Given the description of an element on the screen output the (x, y) to click on. 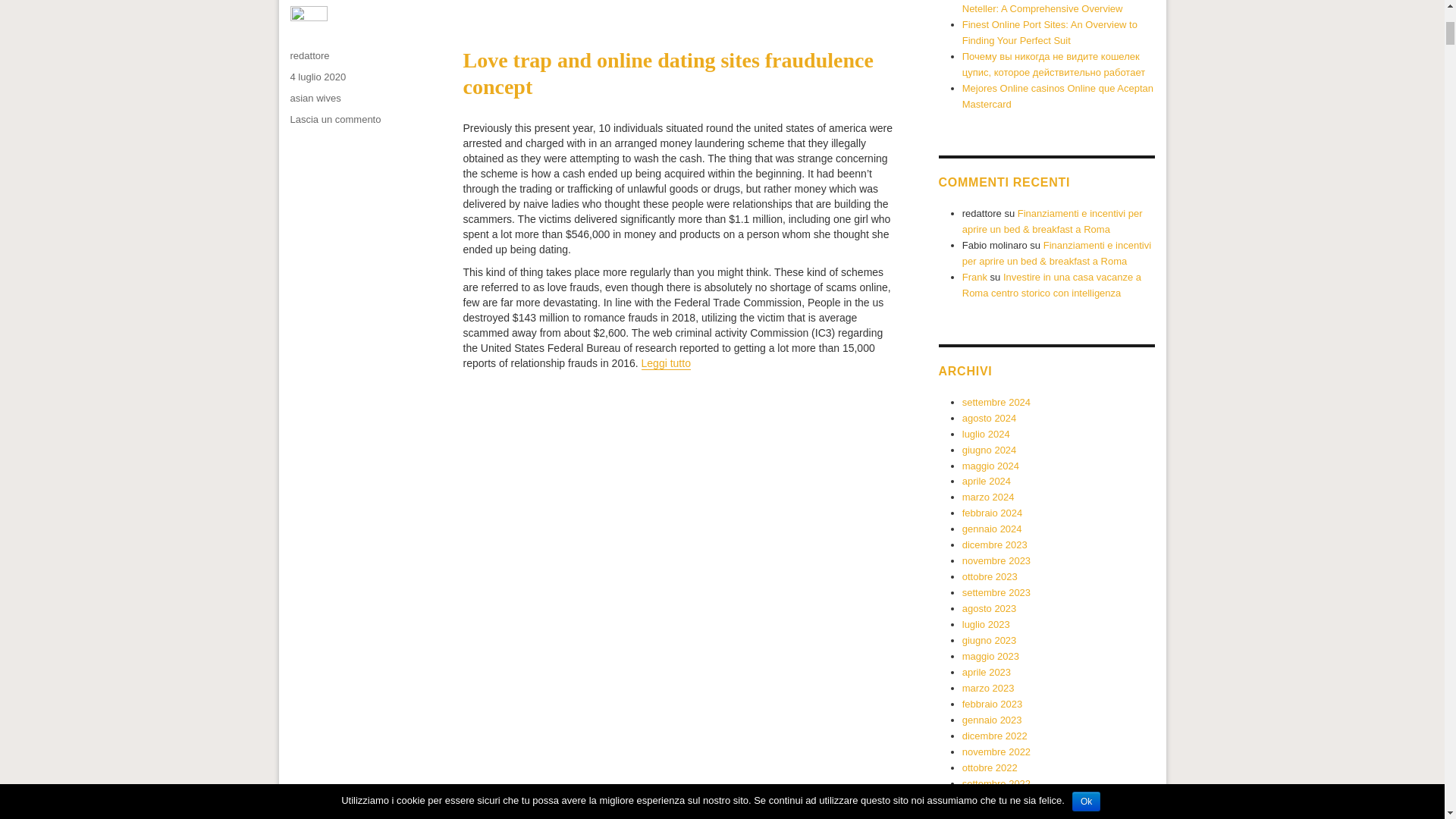
4 luglio 2020 (317, 76)
giugno 2024 (989, 449)
Frank (974, 276)
luglio 2024 (986, 433)
settembre 2024 (996, 401)
asian wives (314, 98)
maggio 2024 (990, 464)
Mejores Online casinos Online que Aceptan Mastercard (1057, 95)
